Given the description of an element on the screen output the (x, y) to click on. 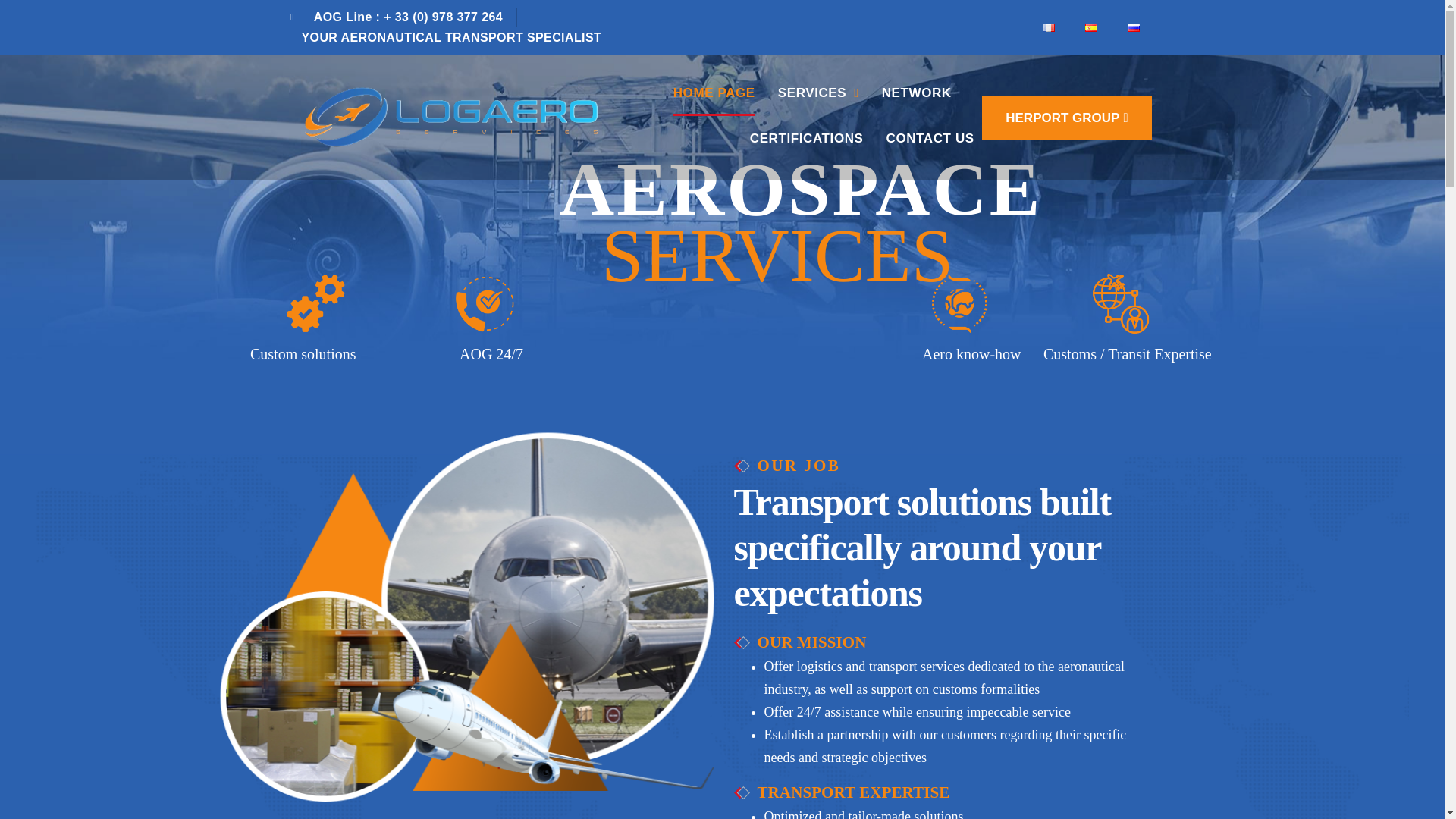
HOME PAGE (713, 93)
CONTACT US (930, 138)
SERVICES (818, 93)
HERPORT GROUP (1066, 117)
NETWORK (917, 93)
CERTIFICATIONS (806, 138)
